Given the description of an element on the screen output the (x, y) to click on. 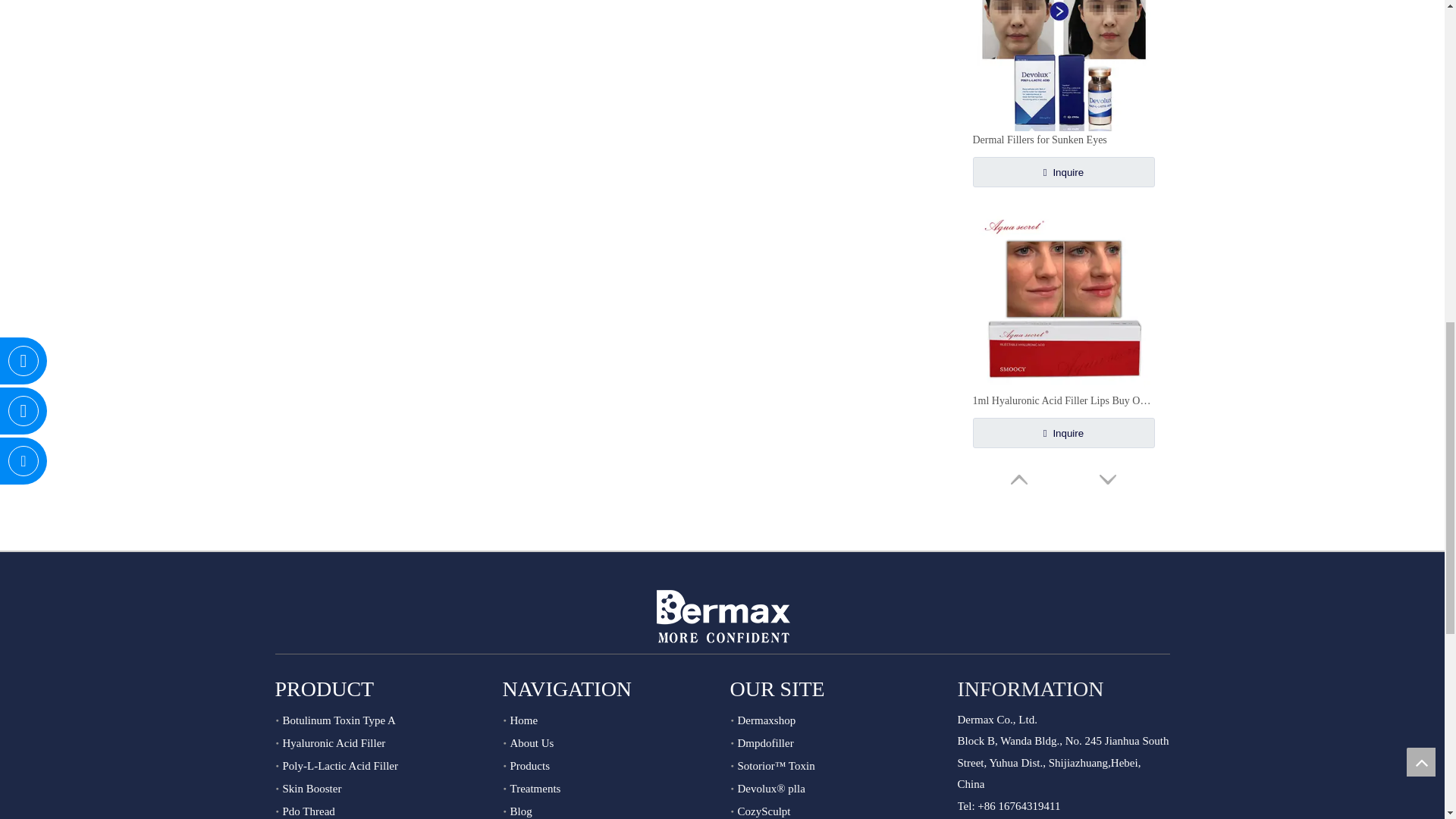
Pdo Thread (308, 811)
Products (529, 766)
Home (523, 720)
Poly-L-Lactic Acid Filler (339, 766)
Skin Booster (311, 788)
Dermal Fillers for Sunken Eyes (1063, 140)
Treatments (534, 788)
Hyaluronic Acid Filler (333, 743)
About Us (531, 743)
Botulinum Toxin Type A (338, 720)
